Given the description of an element on the screen output the (x, y) to click on. 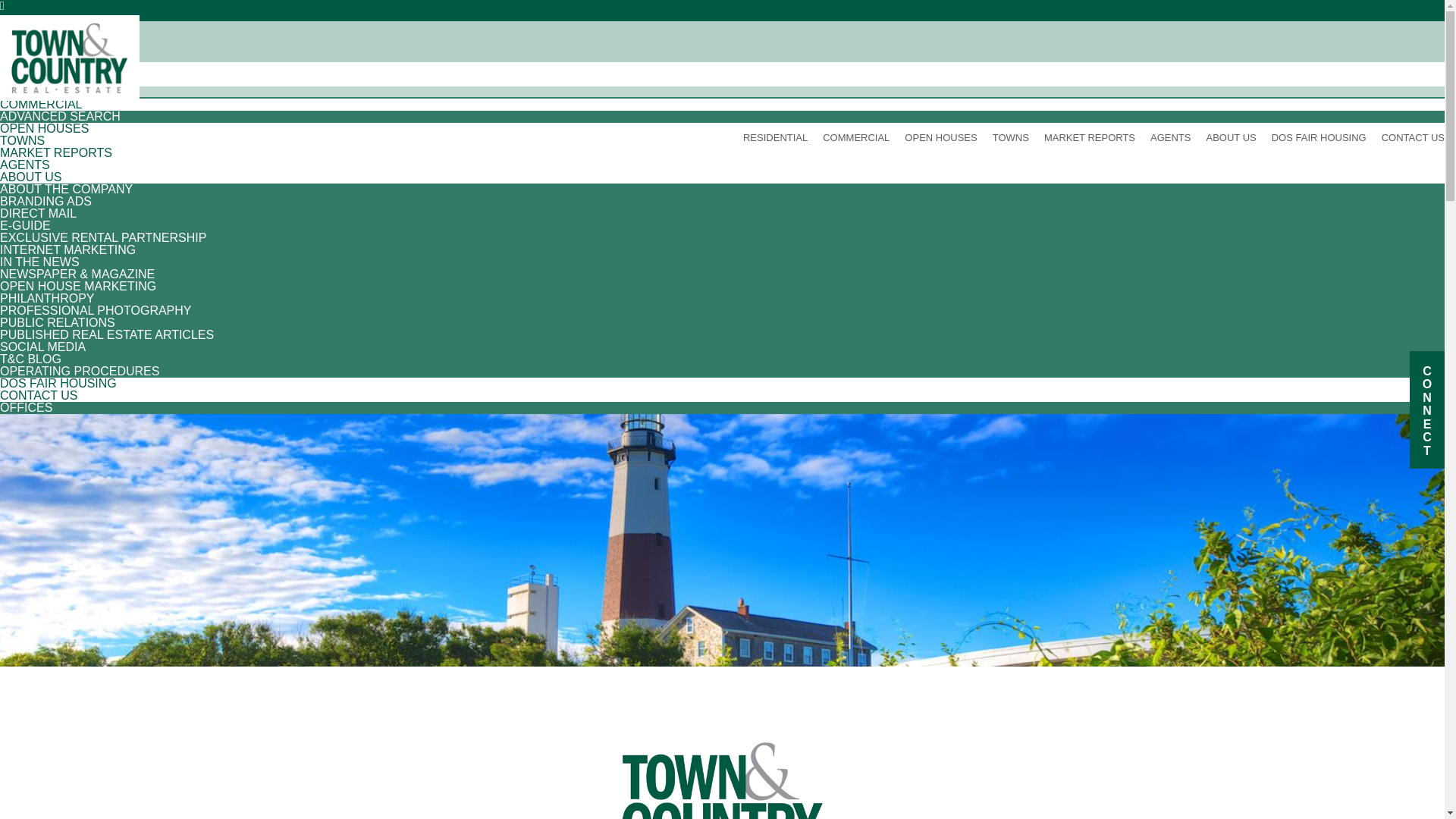
CONTACT US (39, 395)
ADVANCED SEARCH (60, 115)
MARKET REPORTS (1089, 137)
OPERATING PROCEDURES (79, 370)
OPEN HOUSES (44, 128)
TOWNS (22, 140)
OFFICES (26, 407)
ABOUT US (31, 176)
COMMERCIAL (40, 103)
AGENTS (1170, 137)
INTERNET MARKETING (67, 249)
HOME (18, 67)
RESIDENTIAL (40, 79)
BRANDING ADS (45, 201)
TOWNS (1010, 137)
